Given the description of an element on the screen output the (x, y) to click on. 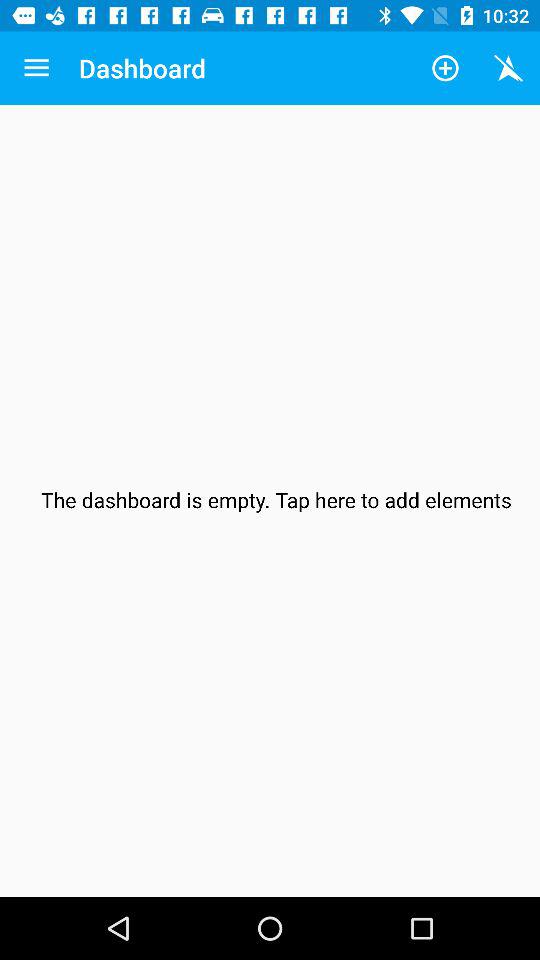
turn on the item to the left of the dashboard (36, 68)
